Given the description of an element on the screen output the (x, y) to click on. 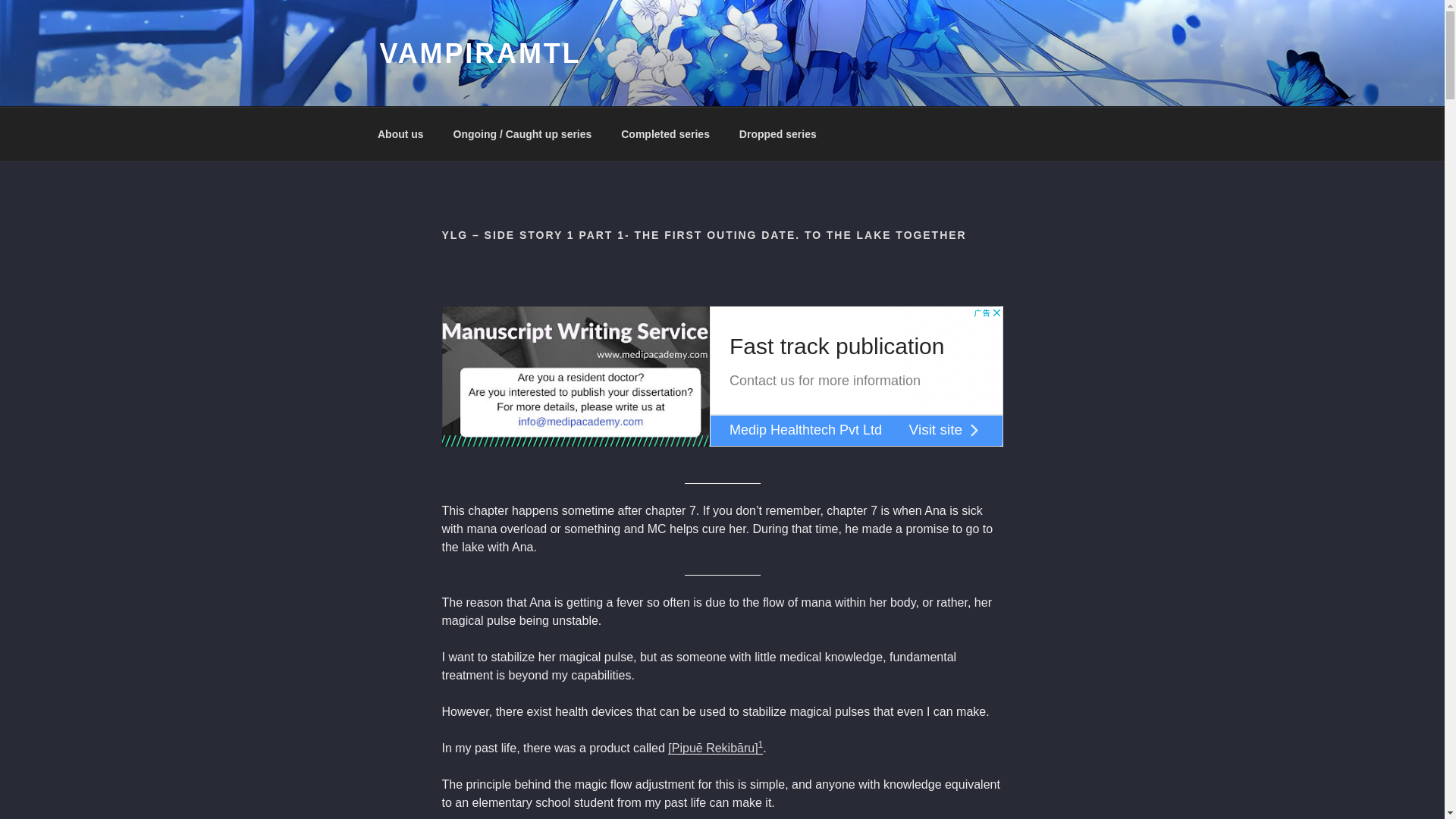
Completed series (665, 133)
Advertisement (722, 376)
Dropped series (777, 133)
VAMPIRAMTL (479, 52)
About us (400, 133)
